Given the description of an element on the screen output the (x, y) to click on. 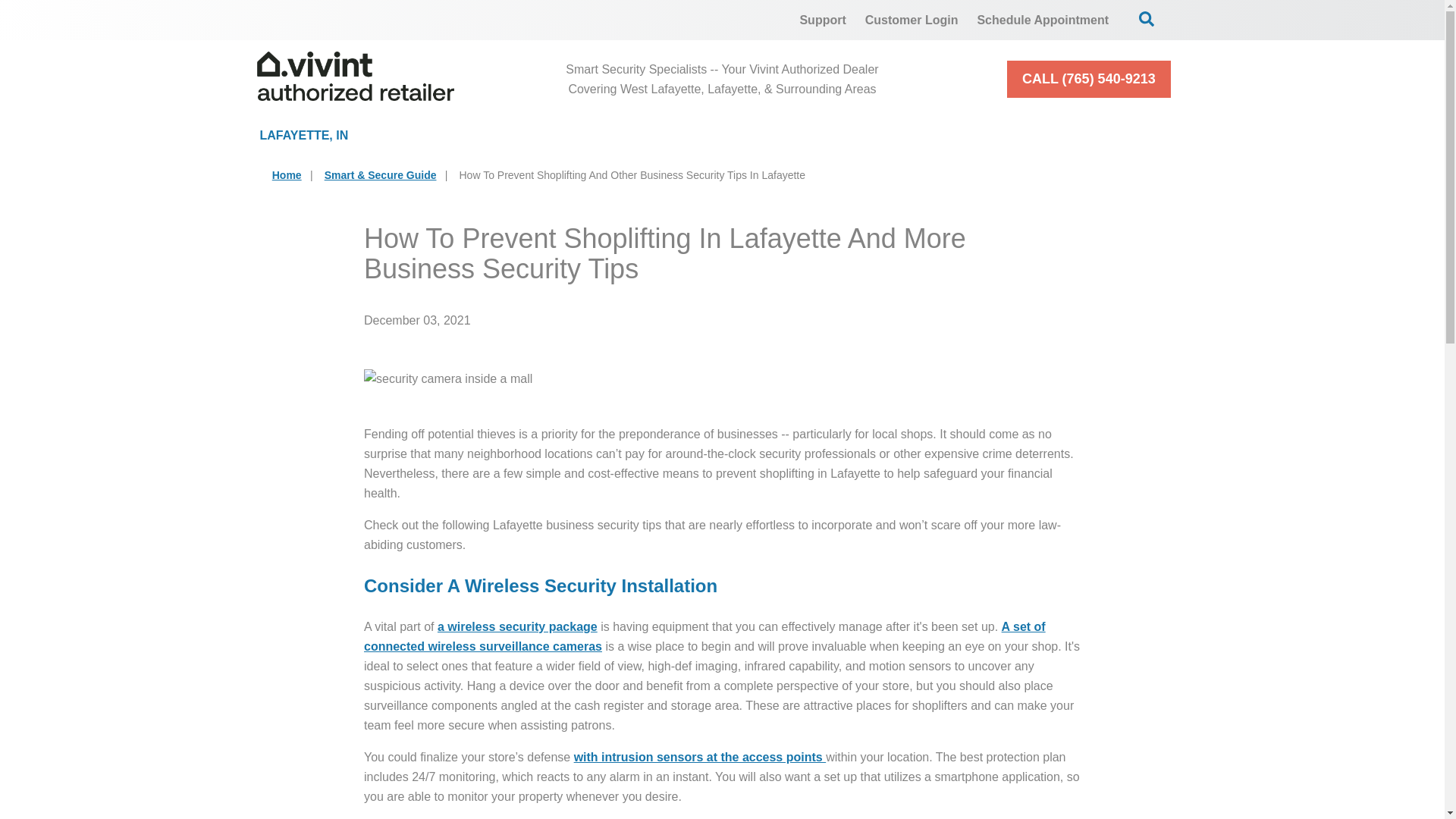
Customer Login (911, 20)
Support (822, 20)
A set of connected wireless surveillance cameras (704, 635)
with intrusion sensors at the access points (700, 757)
Smart Home Automation (864, 135)
Cameras (662, 135)
Open Search (1146, 18)
Home (286, 174)
Vivint Cameras (704, 635)
Home Security (488, 135)
